Given the description of an element on the screen output the (x, y) to click on. 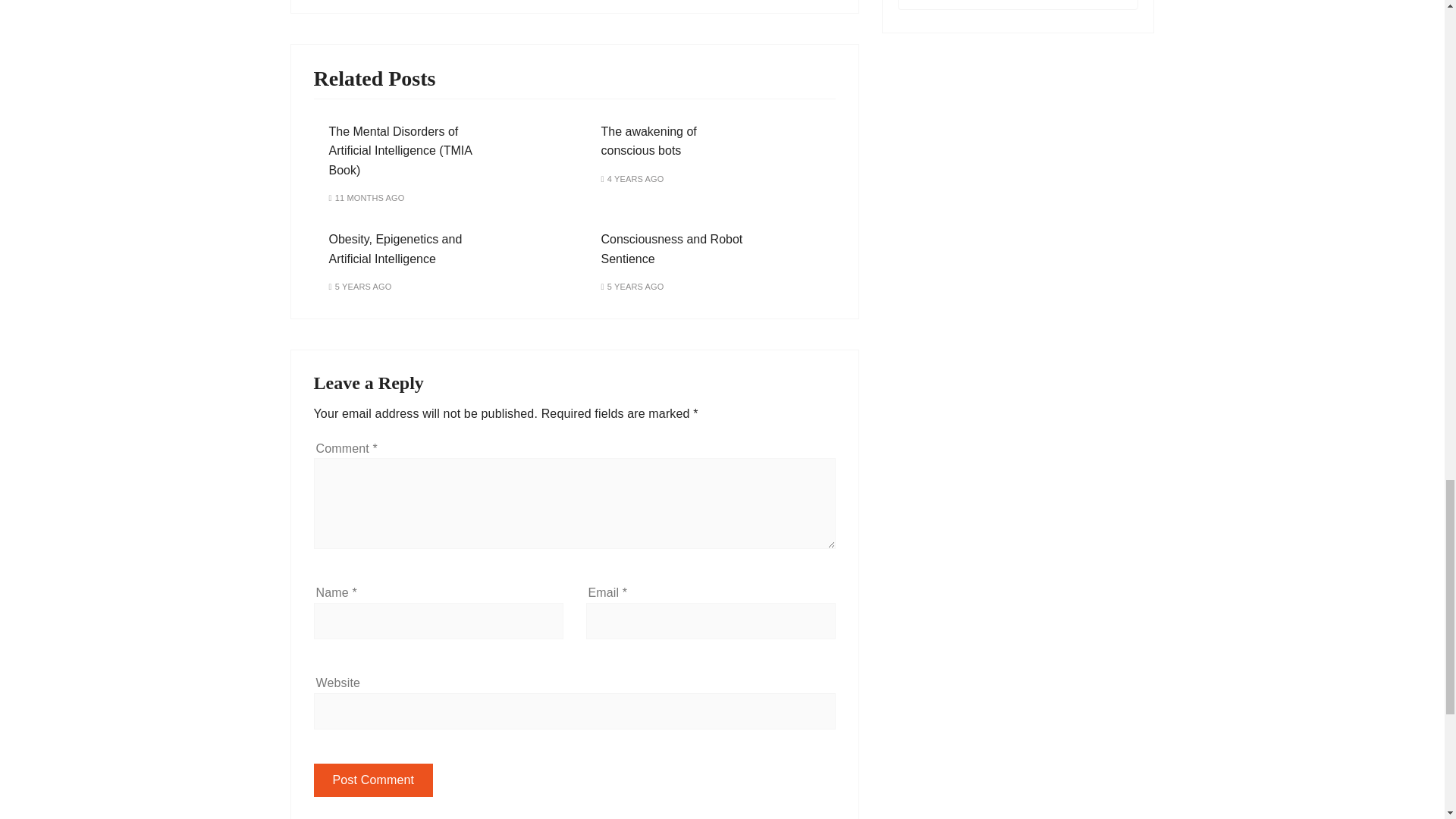
The awakening of conscious bots (647, 141)
Post Comment (373, 779)
Consciousness and Robot Sentience (670, 248)
Post Comment (373, 779)
Obesity, Epigenetics and Artificial Intelligence (396, 248)
